Given the description of an element on the screen output the (x, y) to click on. 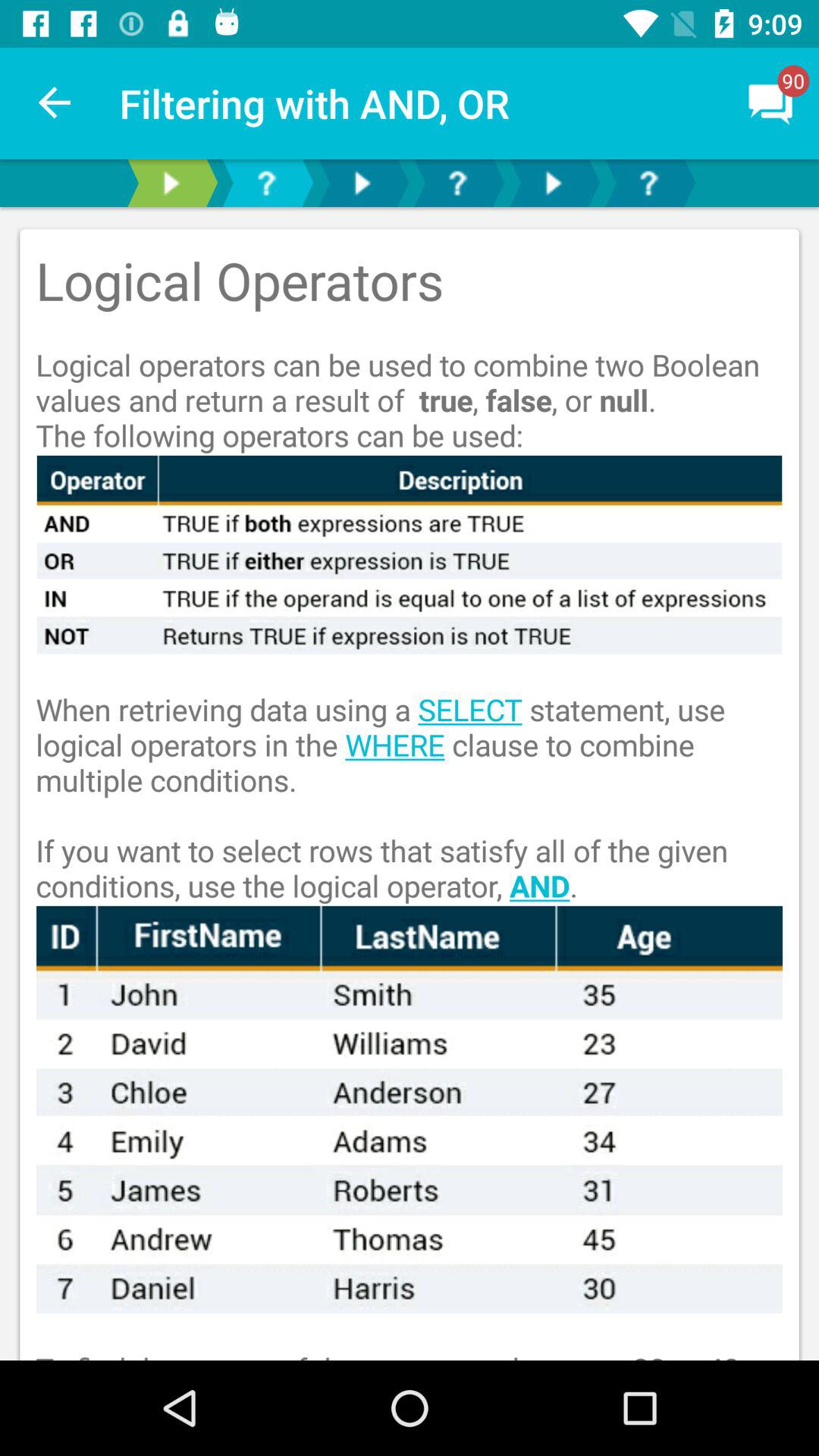
tap item to the left of filtering with and (55, 103)
